Given the description of an element on the screen output the (x, y) to click on. 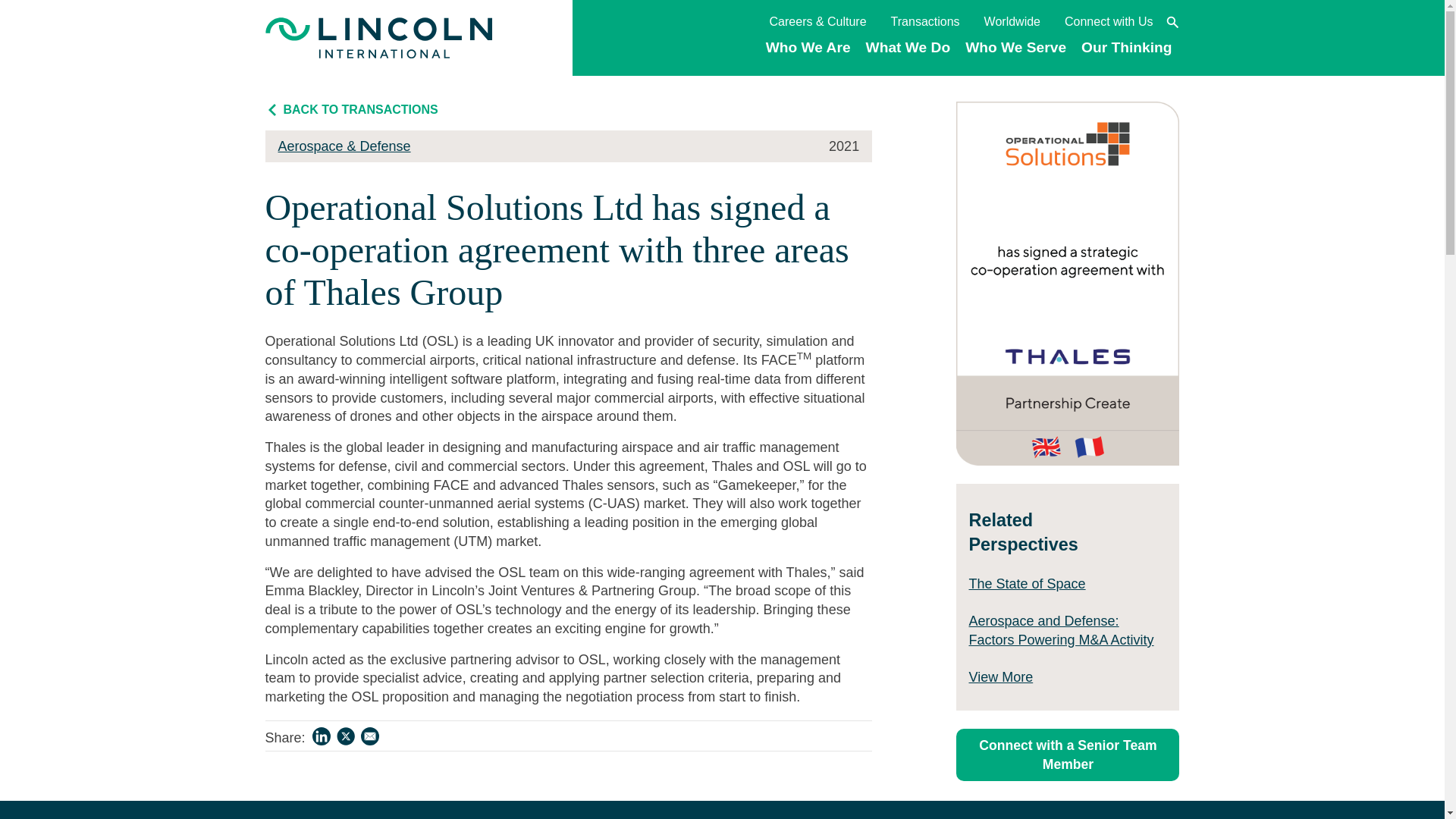
Twitter (345, 739)
Email (369, 739)
LinkedIn (320, 739)
What We Do (908, 55)
Lincoln International LLC (378, 37)
Who We Serve (1016, 55)
Who We Are (808, 55)
